Given the description of an element on the screen output the (x, y) to click on. 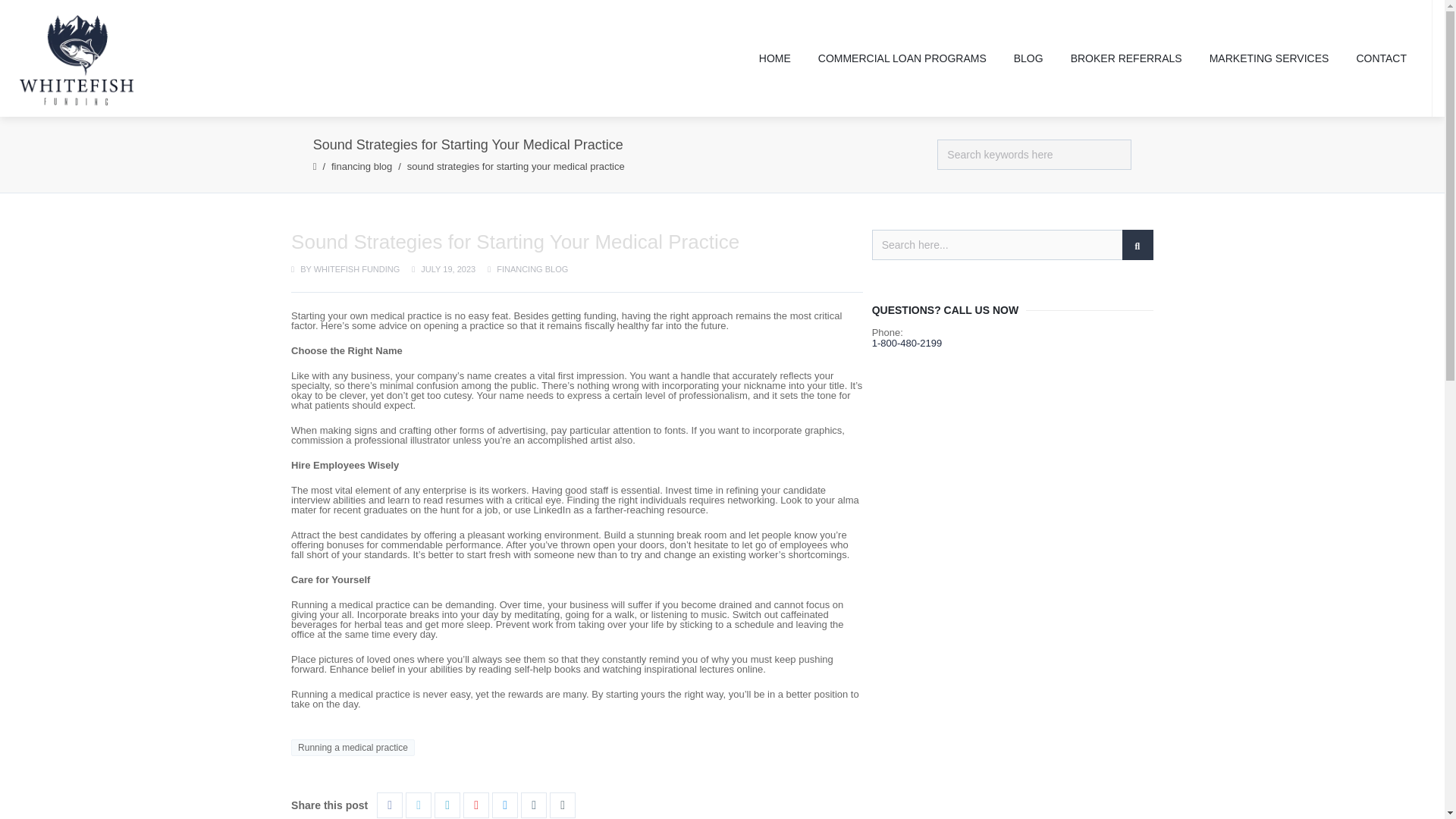
Financing Blog (361, 165)
View all posts in Financing Blog (531, 268)
COMMERCIAL LOAN PROGRAMS (902, 58)
Search here... (1012, 245)
Posts by Whitefish Funding (357, 268)
Search here... (1012, 245)
Search keywords here (1034, 154)
Whitefish Funding (76, 60)
